Given the description of an element on the screen output the (x, y) to click on. 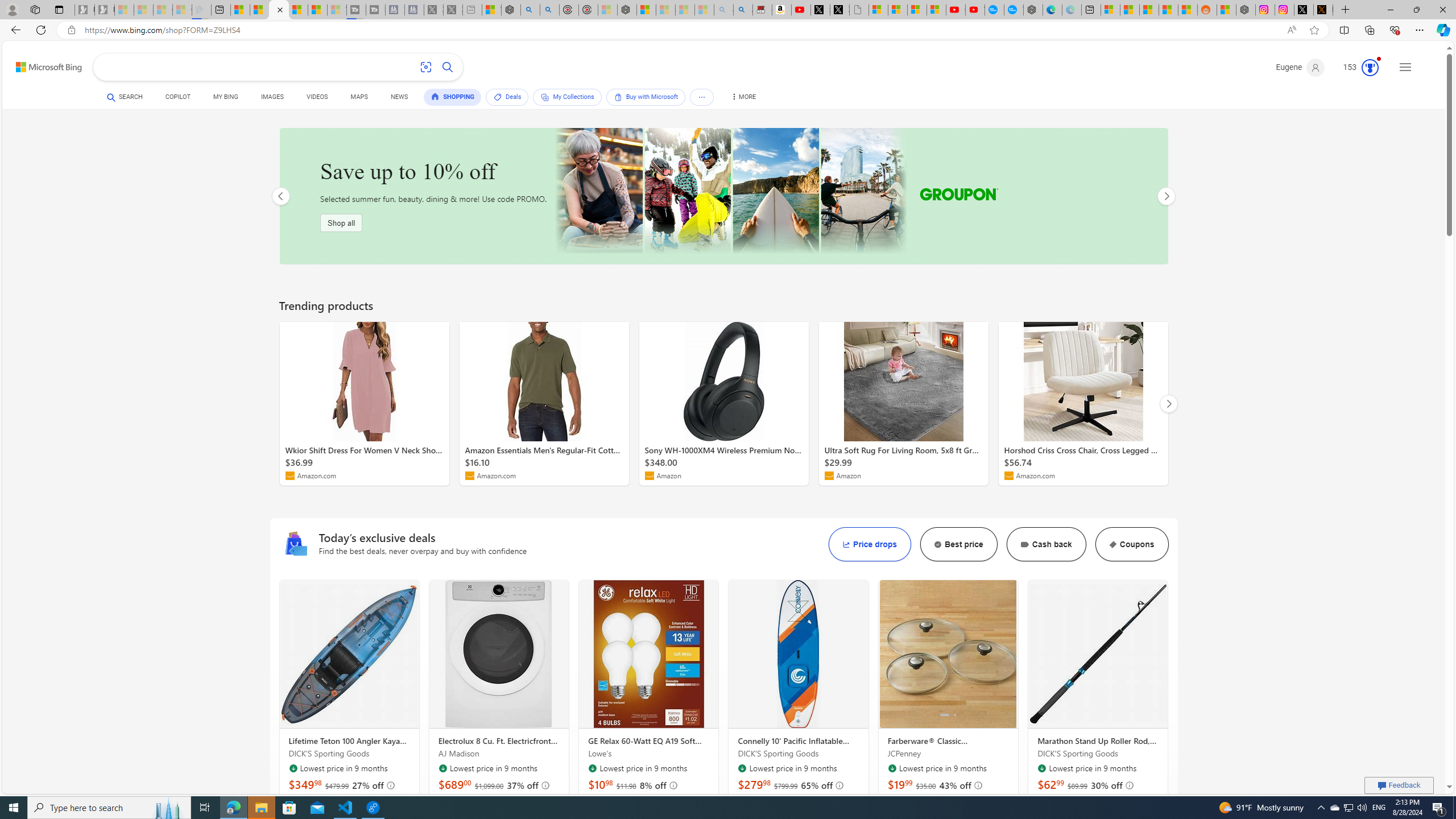
sh-button-icon (1112, 543)
Deals (507, 96)
poe ++ standard - Search (549, 9)
Wildlife - MSN (491, 9)
Microsoft Start (316, 9)
Browser essentials (1394, 29)
Settings and more (Alt+F) (1419, 29)
Settings and quick links (1404, 67)
